Given the description of an element on the screen output the (x, y) to click on. 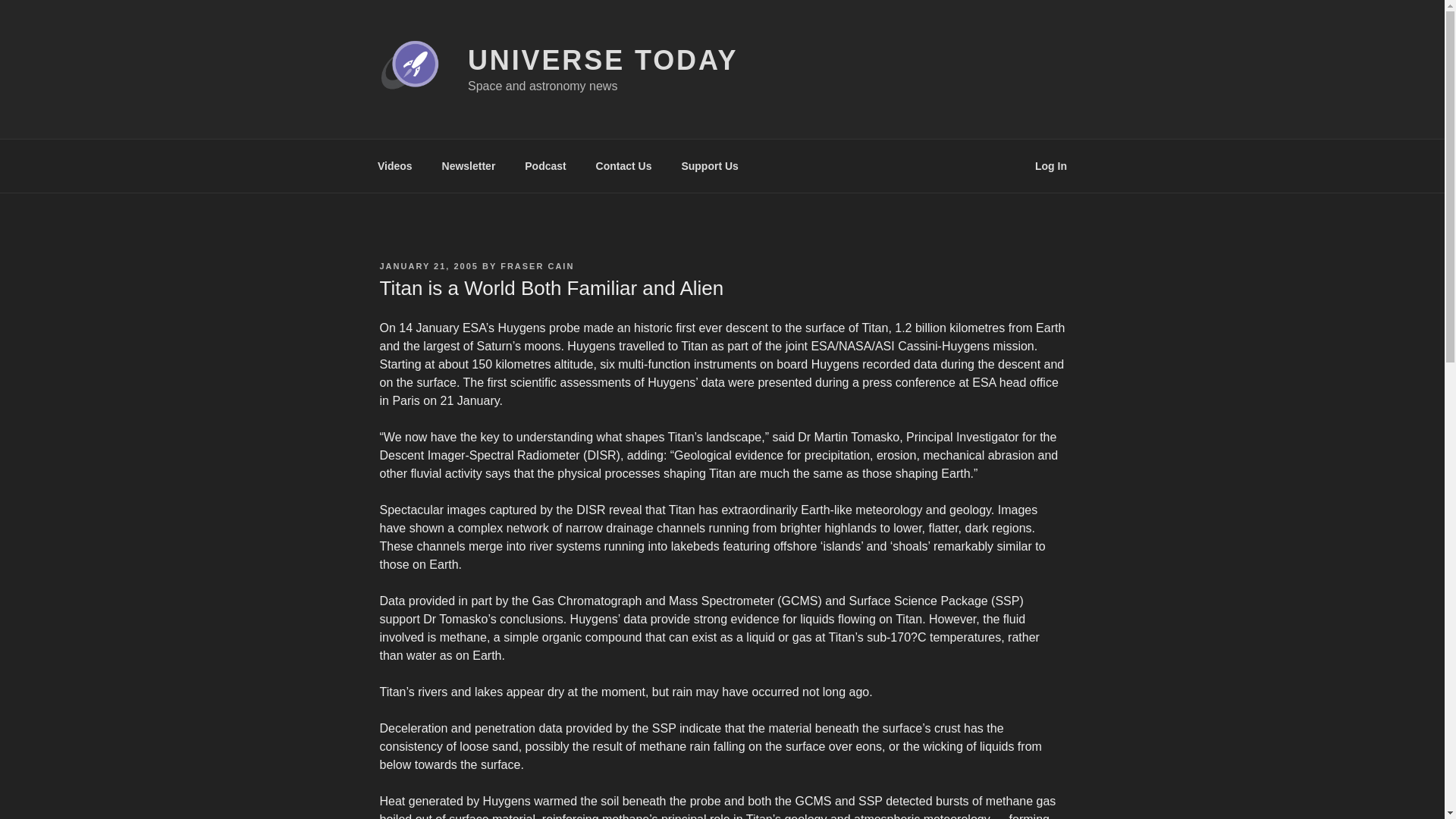
Podcast (545, 165)
Videos (394, 165)
Newsletter (468, 165)
Support Us (709, 165)
Log In (1051, 165)
FRASER CAIN (536, 266)
JANUARY 21, 2005 (427, 266)
Contact Us (623, 165)
UNIVERSE TODAY (602, 60)
